Given the description of an element on the screen output the (x, y) to click on. 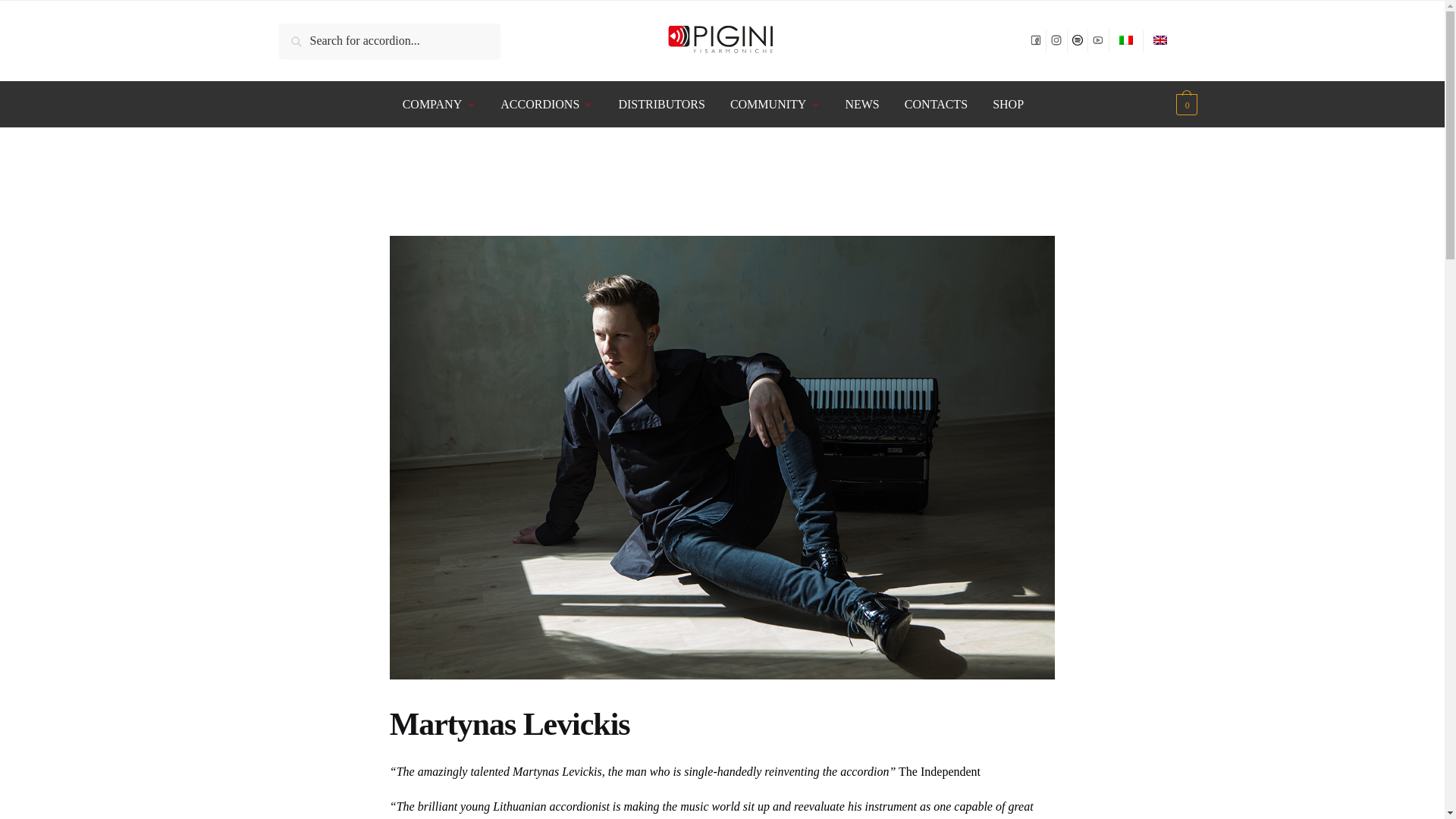
HOME (293, 186)
View your shopping cart (1184, 104)
DISTRIBUTORS (661, 104)
CONTACTS (936, 104)
ACCORDIONS (547, 104)
SHOP (1007, 104)
Search (300, 34)
NEWS (862, 104)
COMPANY (442, 104)
COMMUNITY (775, 104)
0 (1184, 104)
ARTIST (337, 186)
